Given the description of an element on the screen output the (x, y) to click on. 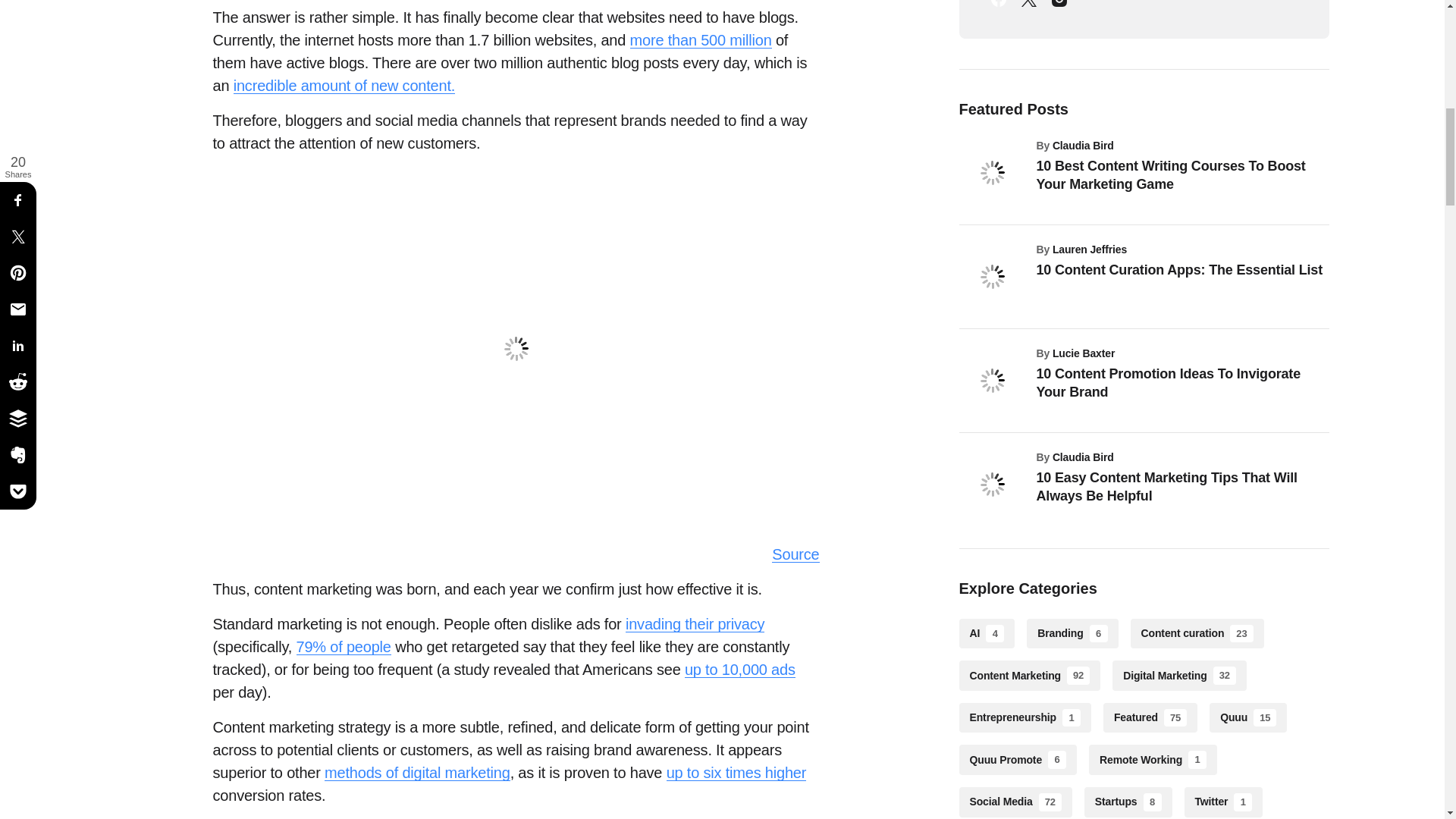
up to six times higher (736, 773)
incredible amount of new content. (343, 85)
Twitter (1028, 7)
Source (794, 554)
Facebook (997, 7)
invading their privacy (695, 624)
more than 500 million (700, 40)
Instagram (1058, 7)
methods of digital marketing (417, 773)
up to 10,000 ads (739, 669)
